Given the description of an element on the screen output the (x, y) to click on. 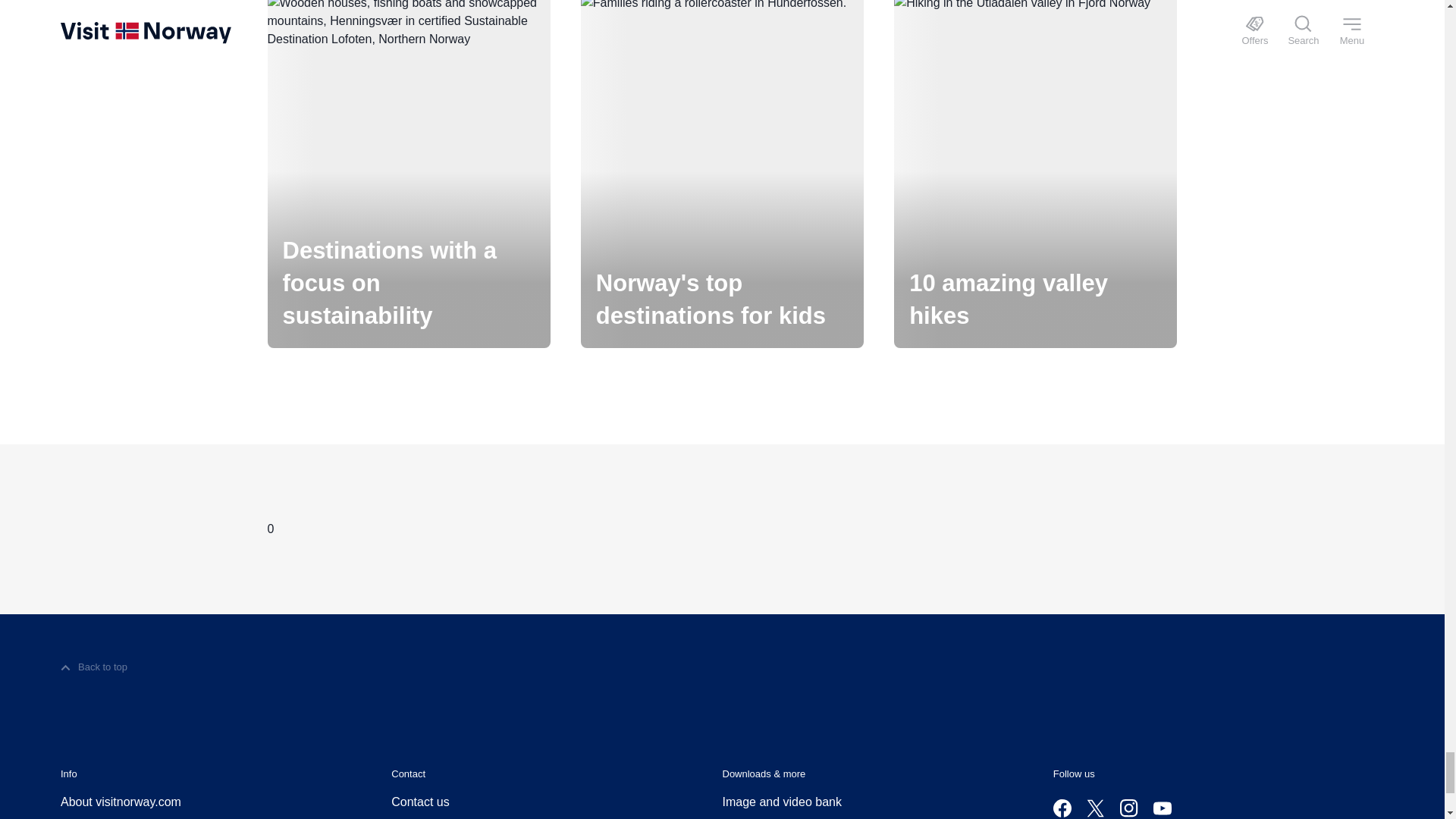
Image and video bank (781, 802)
Contact us (419, 802)
Back to top (94, 667)
About visitnorway.com (120, 802)
